Given the description of an element on the screen output the (x, y) to click on. 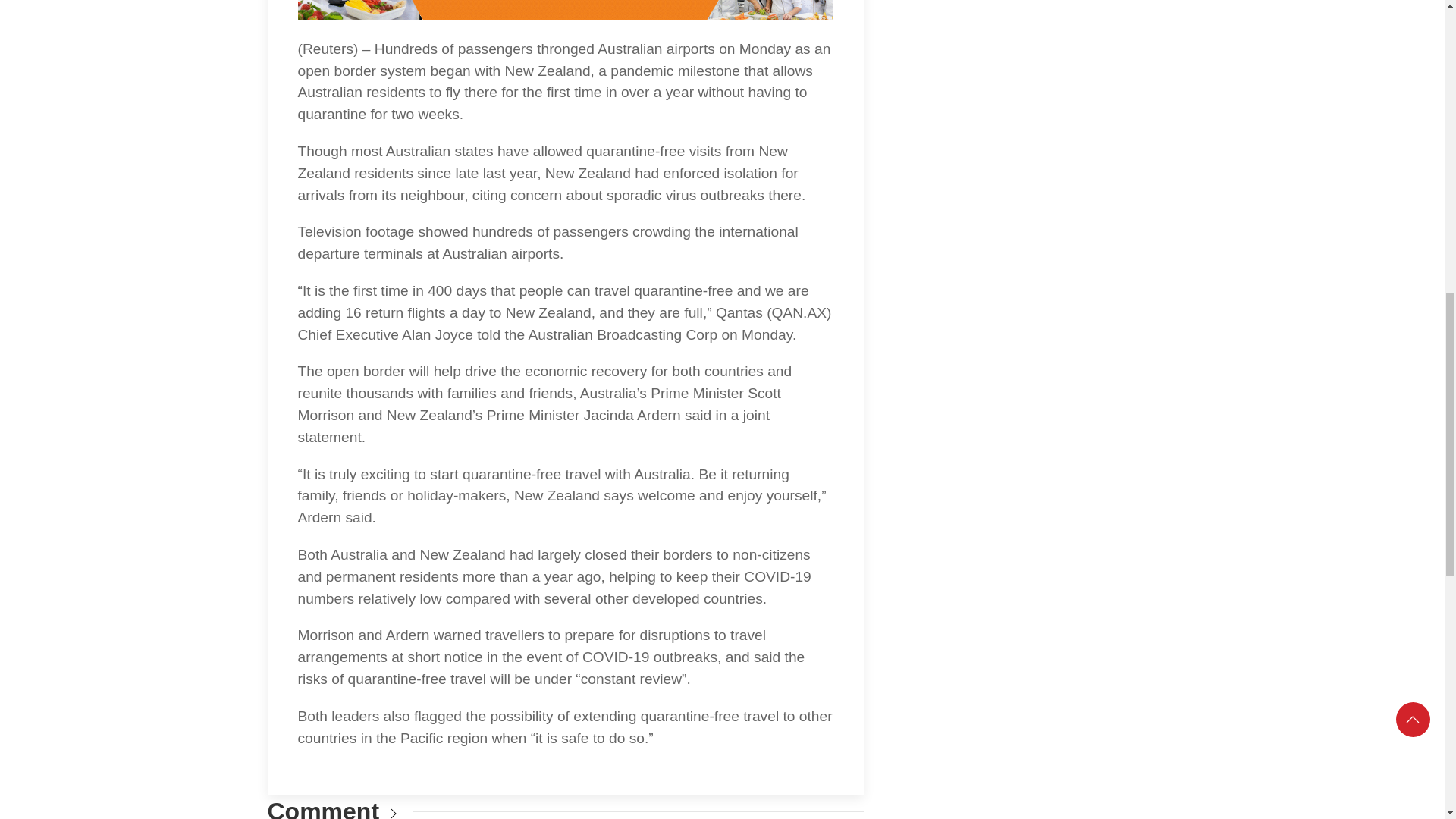
Comment (322, 808)
